Given the description of an element on the screen output the (x, y) to click on. 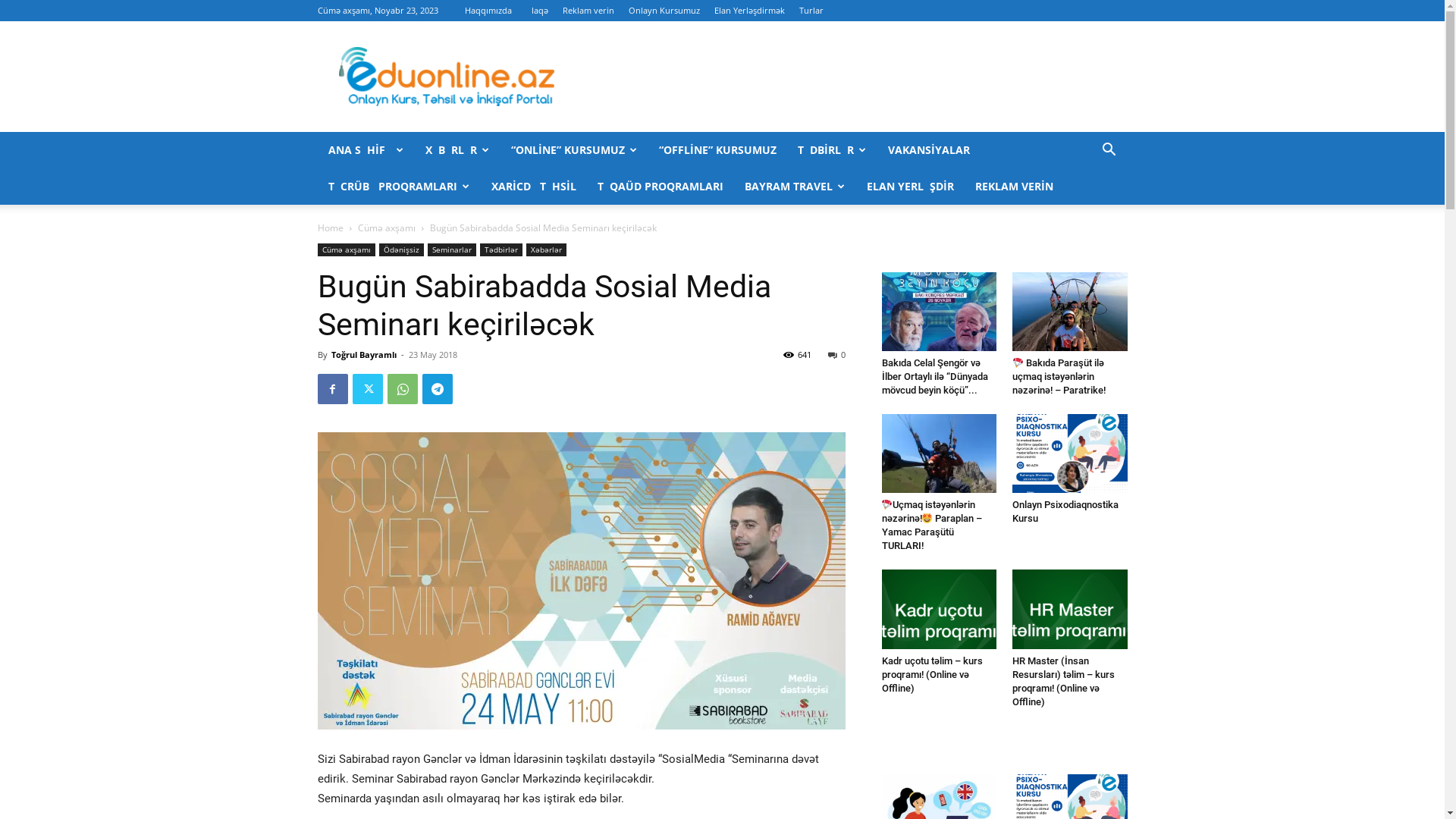
Twitter Element type: hover (366, 388)
Seminarlar Element type: text (451, 249)
WhatsApp Element type: hover (401, 388)
Onlayn Psixodiaqnostika Kursu Element type: text (1065, 511)
31961672_1883200201712139_5553096120466407424_o Element type: hover (580, 580)
Facebook Element type: hover (331, 388)
Home Element type: text (329, 227)
Reklam verin Element type: text (588, 9)
Onlayn Psixodiaqnostika Kursu Element type: hover (1069, 453)
VAKANSIYALAR Element type: text (927, 149)
Search Element type: text (1085, 210)
Onlayn Kursumuz Element type: text (663, 9)
REKLAM VERIN Element type: text (1013, 186)
0 Element type: text (836, 354)
Turlar Element type: text (811, 9)
Telegram Element type: hover (436, 388)
BAYRAM TRAVEL Element type: text (795, 186)
